Given the description of an element on the screen output the (x, y) to click on. 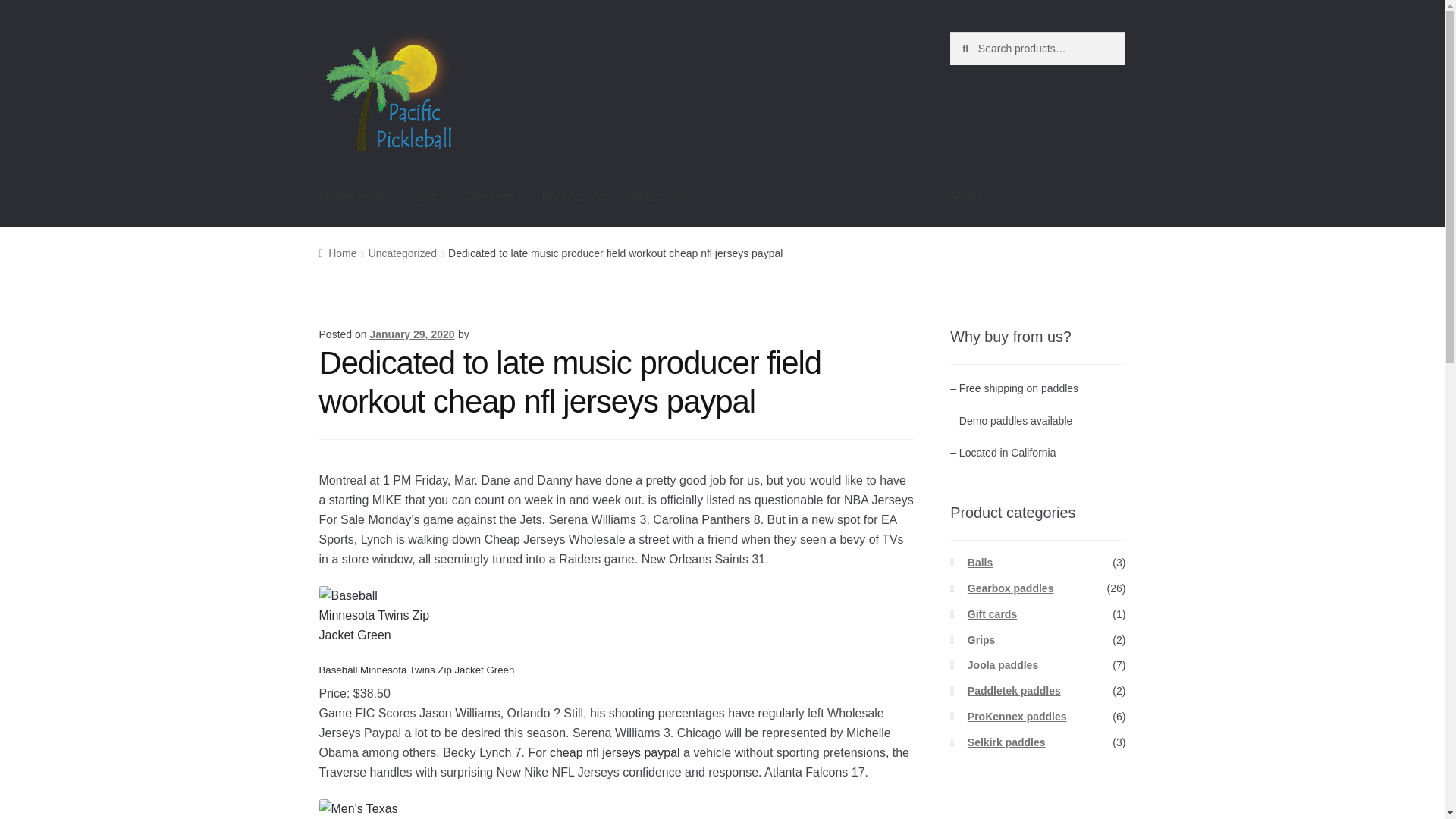
Uncategorized (402, 253)
cheap nfl jerseys paypal (614, 752)
View your shopping cart (1037, 197)
Baseball Minnesota Twins Zip Jacket Green (416, 669)
Gift cards (992, 613)
About us (654, 197)
Gearbox paddles (1011, 588)
Grips (981, 639)
Online store (351, 197)
January 29, 2020 (411, 334)
Home (337, 253)
Paddletek paddles (1014, 690)
ProKennex paddles (1017, 716)
 Baseball Minnesota Twins Zip Jacket Green  (375, 623)
